Given the description of an element on the screen output the (x, y) to click on. 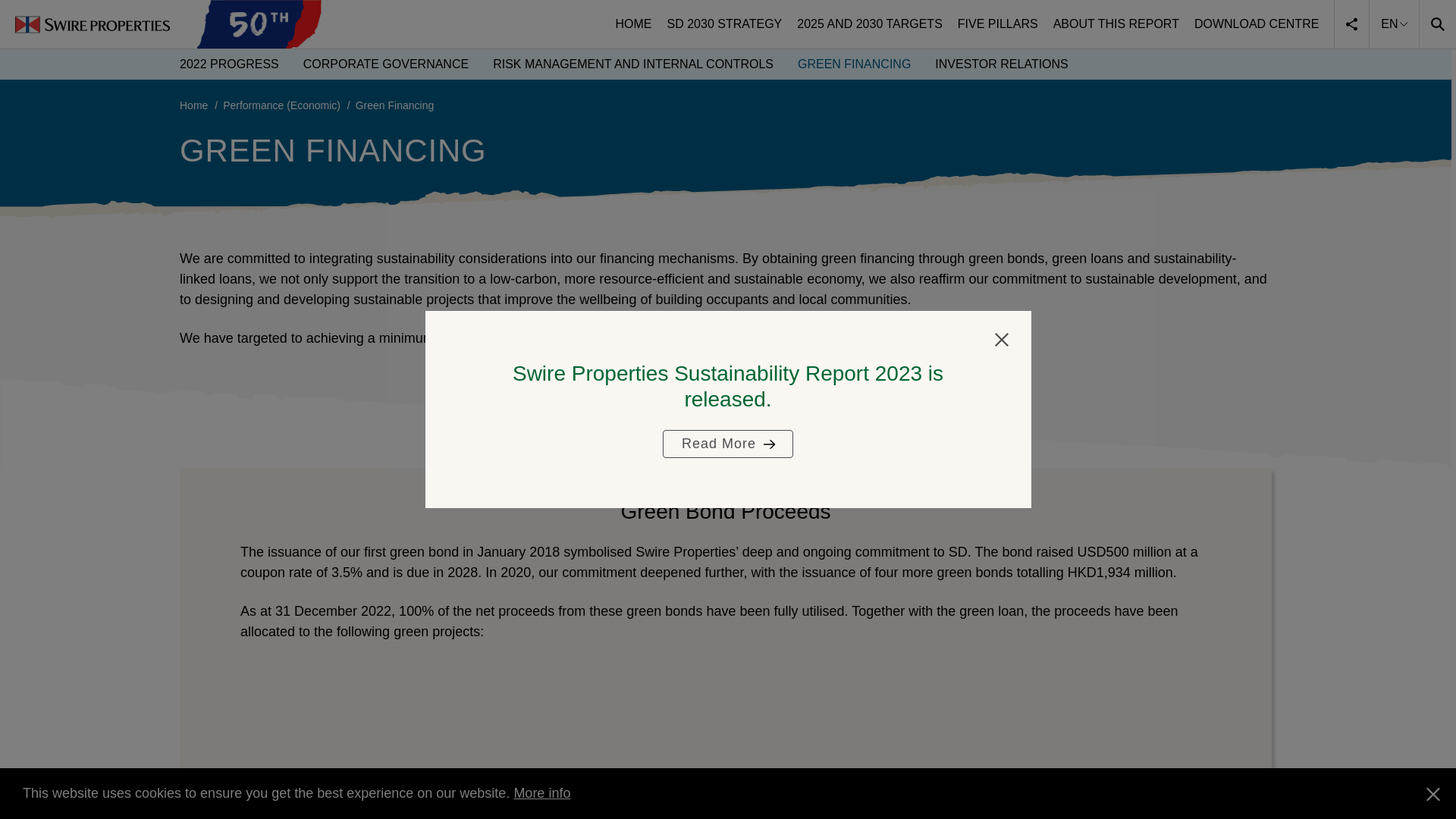
2025 AND 2030 TARGETS (869, 24)
FIVE PILLARS (998, 24)
SD 2030 STRATEGY (724, 24)
